Given the description of an element on the screen output the (x, y) to click on. 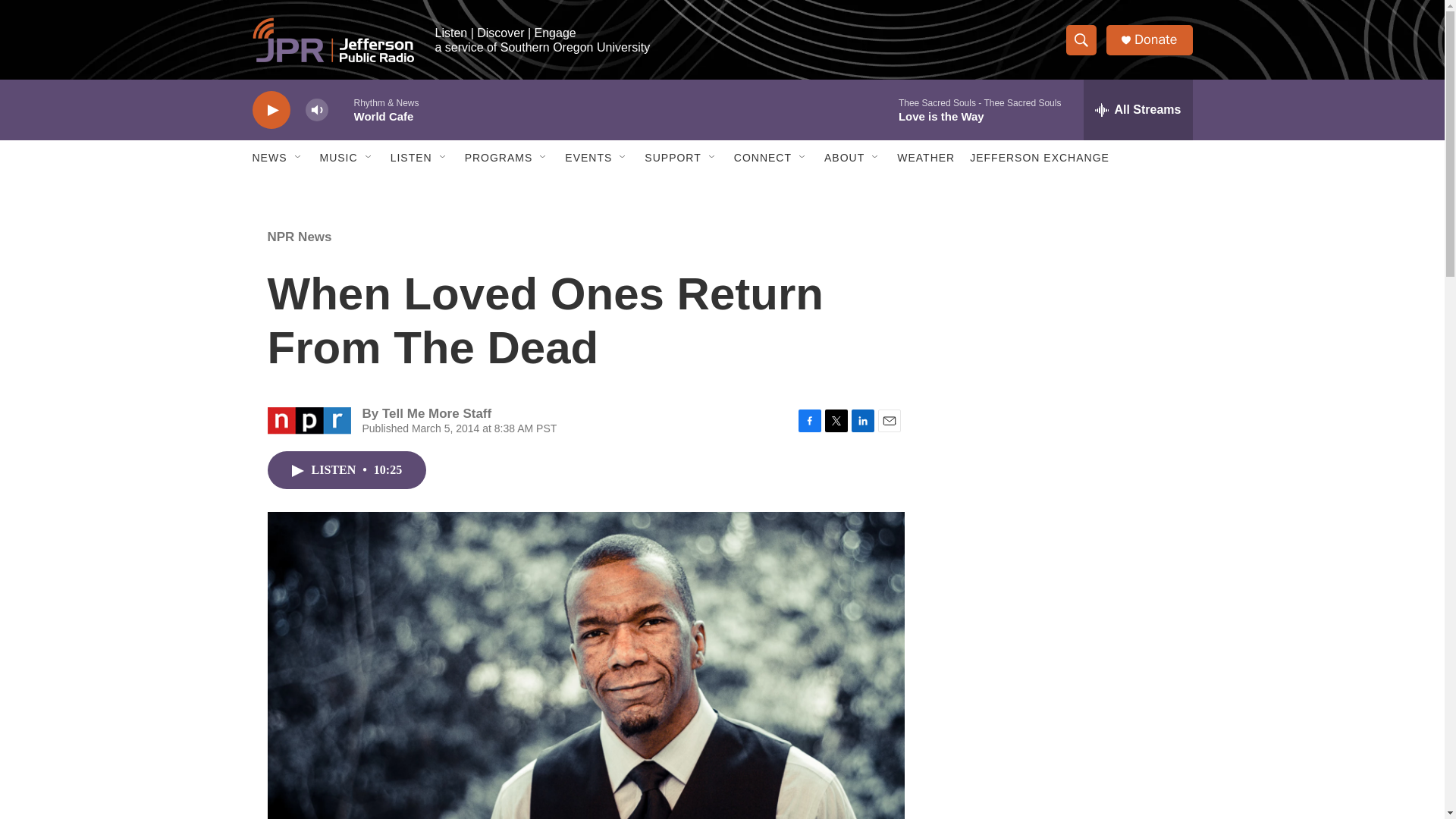
3rd party ad content (1062, 740)
3rd party ad content (1062, 316)
3rd party ad content (1062, 536)
